Given the description of an element on the screen output the (x, y) to click on. 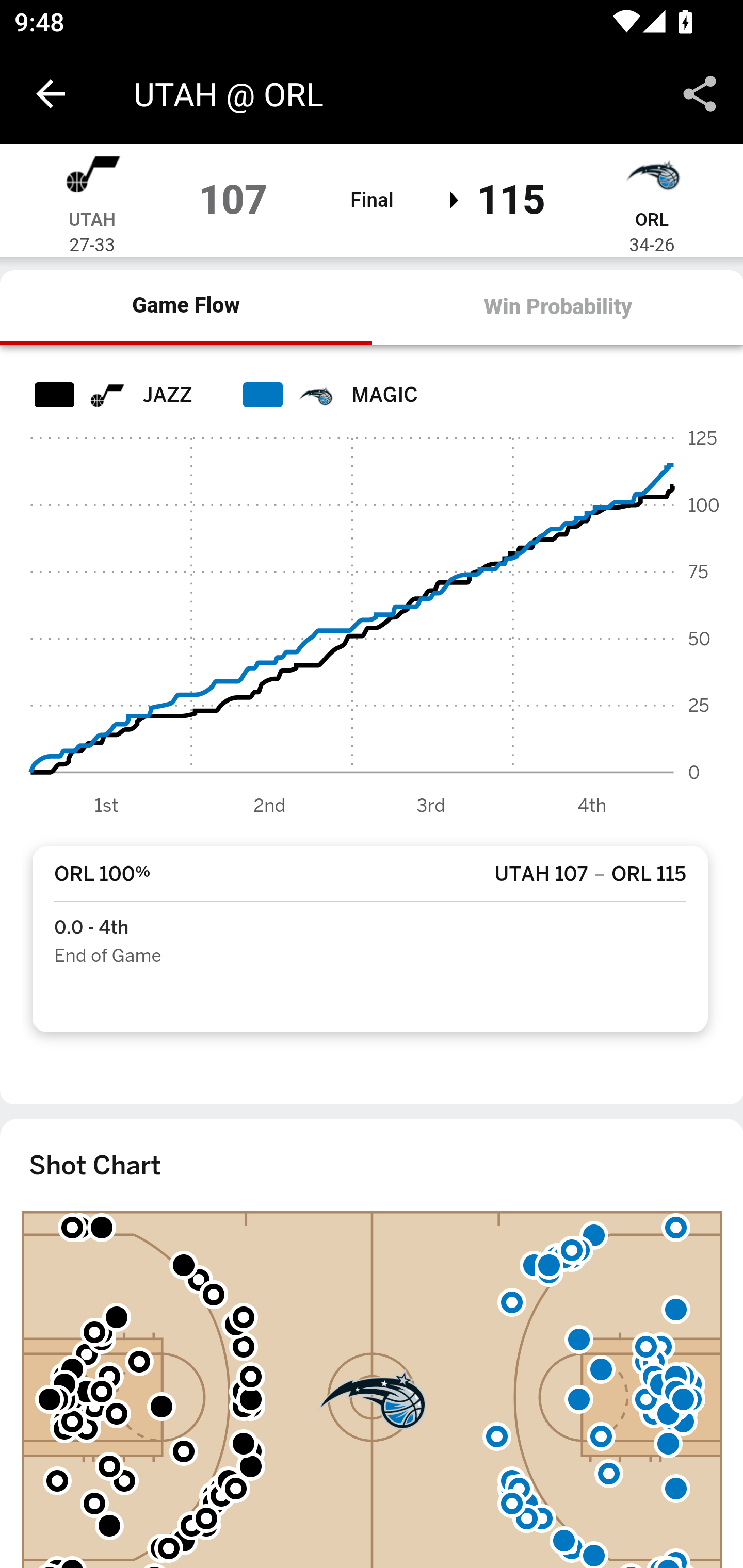
Navigate up (50, 93)
Share (699, 93)
Utah Jazz (91, 178)
Orlando Magic (651, 178)
UTAH (91, 221)
ORL (651, 221)
Game Flow (186, 308)
Win Probability (557, 308)
Jazz (106, 395)
#0077c0 (314, 395)
